Given the description of an element on the screen output the (x, y) to click on. 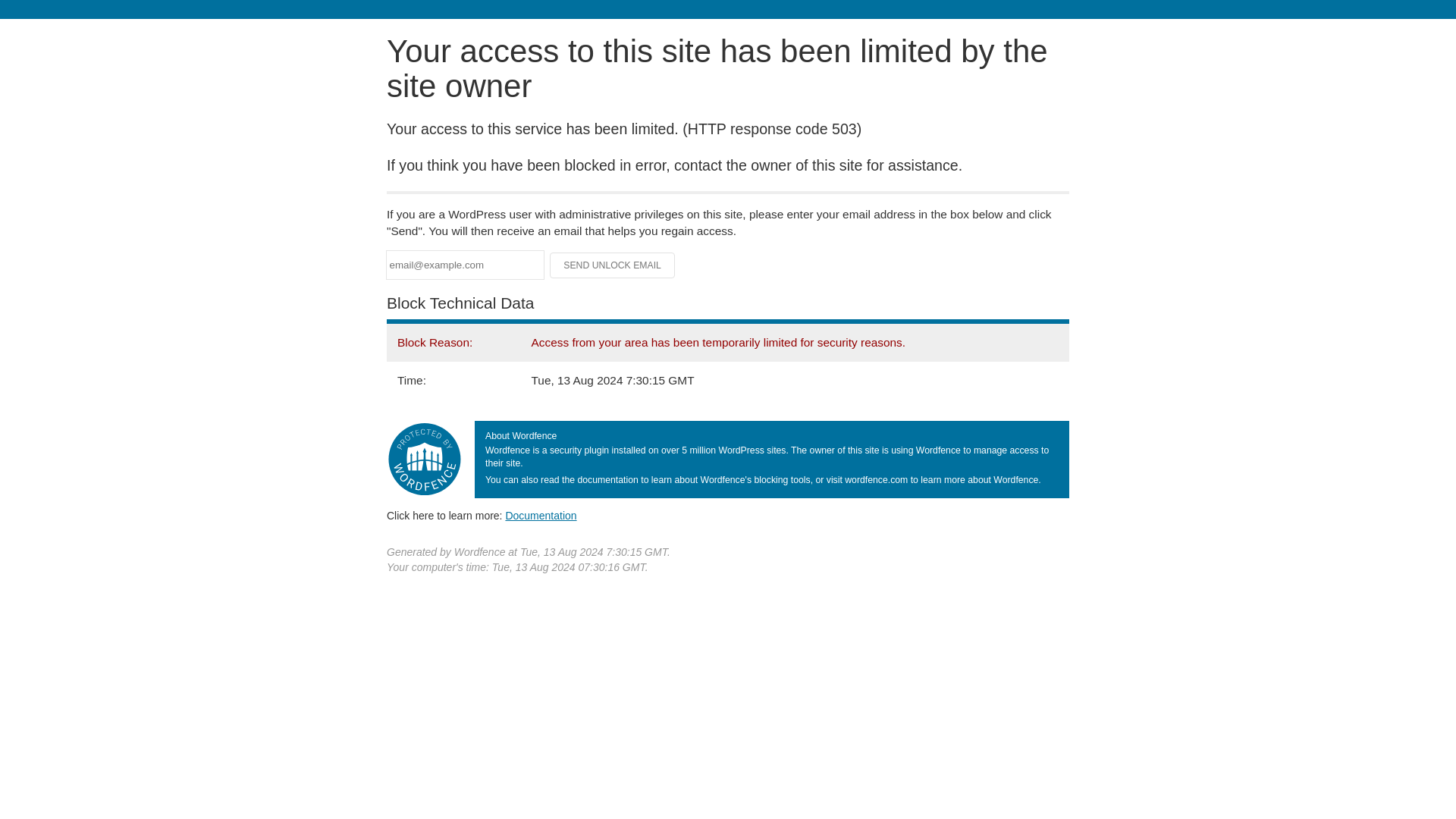
Documentation (540, 515)
Send Unlock Email (612, 265)
Send Unlock Email (612, 265)
